Given the description of an element on the screen output the (x, y) to click on. 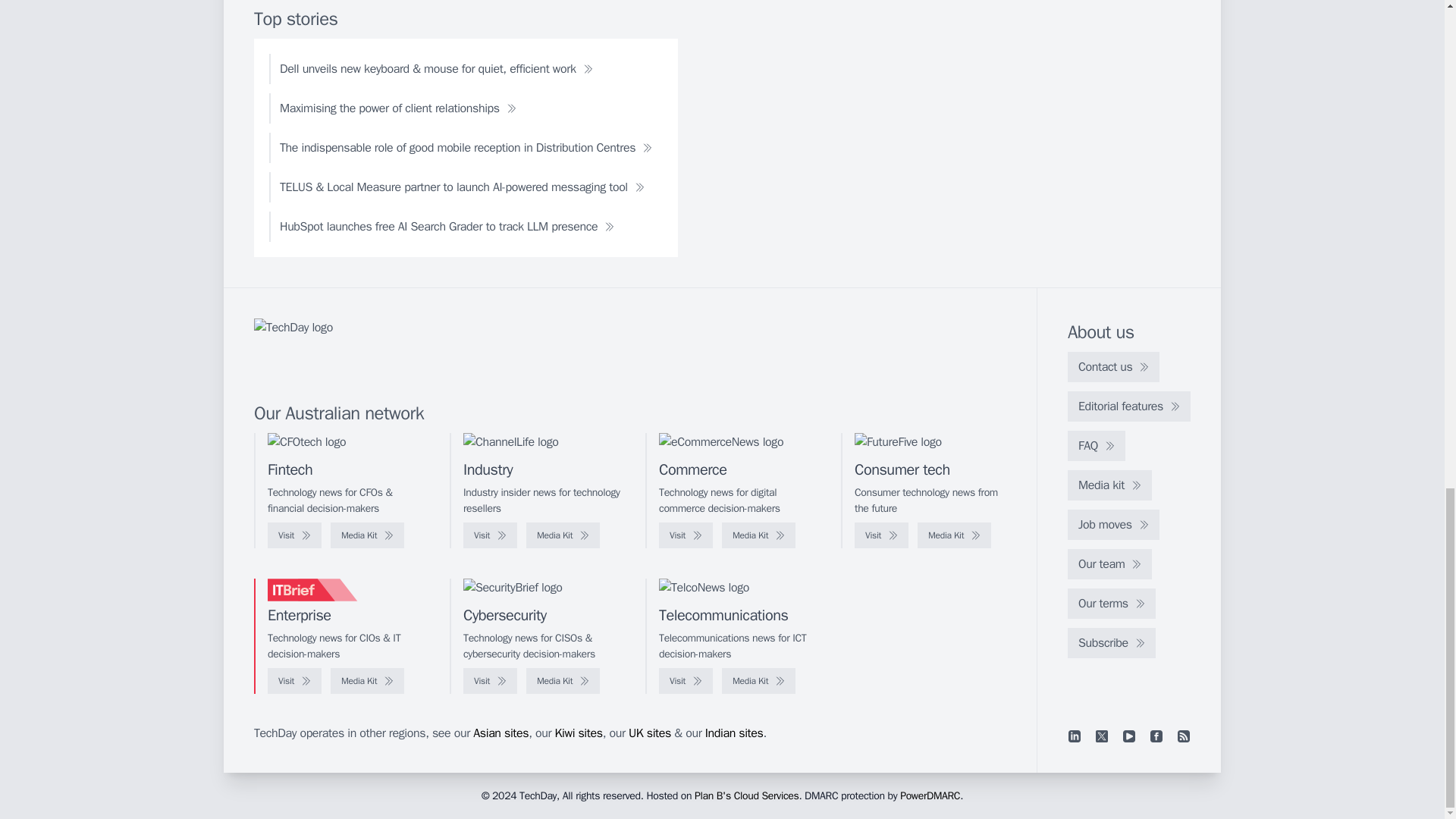
HubSpot launches free AI Search Grader to track LLM presence (446, 226)
Media Kit (367, 534)
Visit (686, 534)
Media Kit (562, 534)
Media Kit (954, 534)
Visit (881, 534)
Visit (294, 534)
Visit (489, 534)
Media Kit (758, 534)
